Given the description of an element on the screen output the (x, y) to click on. 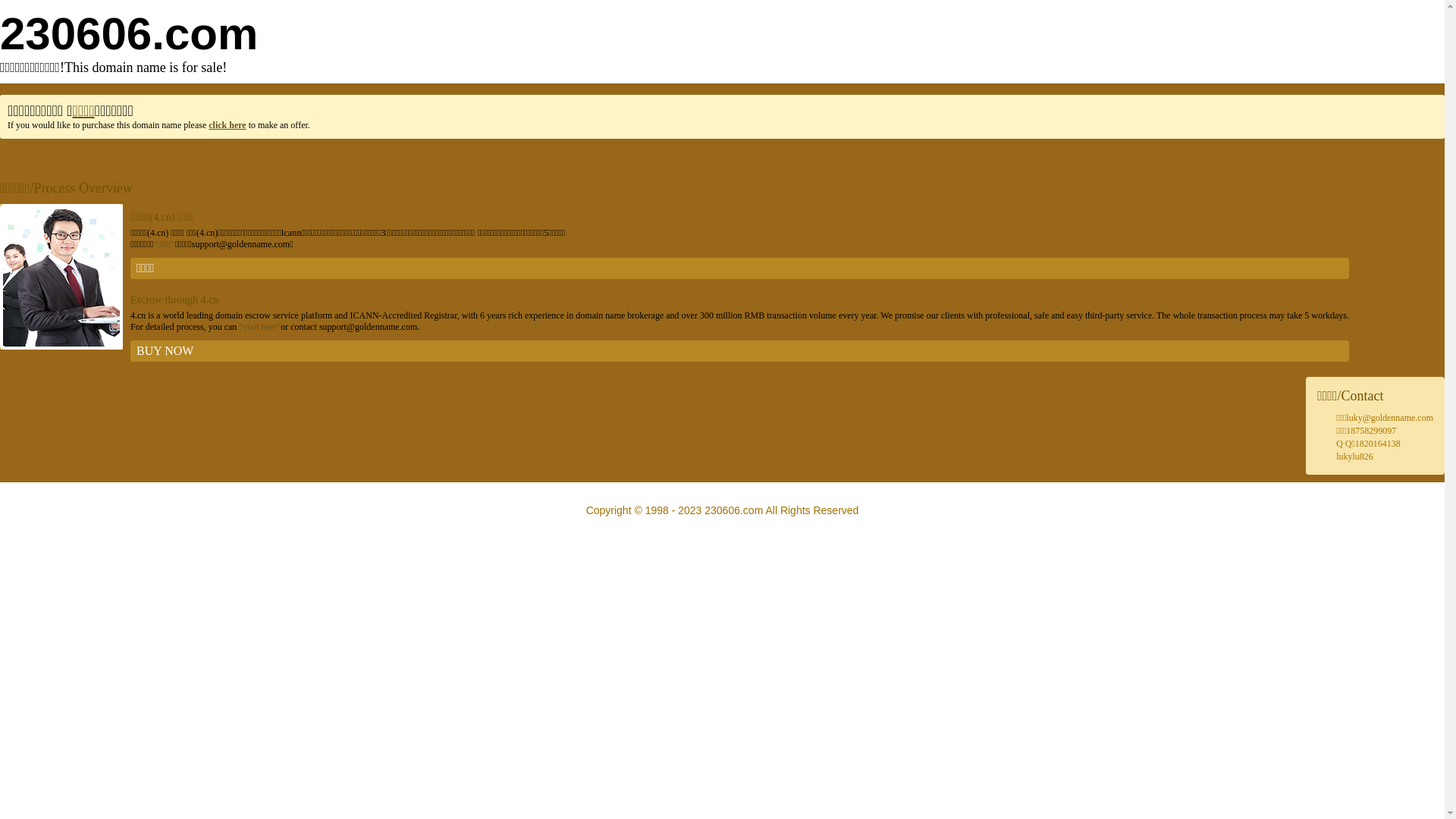
click here Element type: text (226, 124)
BUY NOW Element type: text (739, 350)
